Given the description of an element on the screen output the (x, y) to click on. 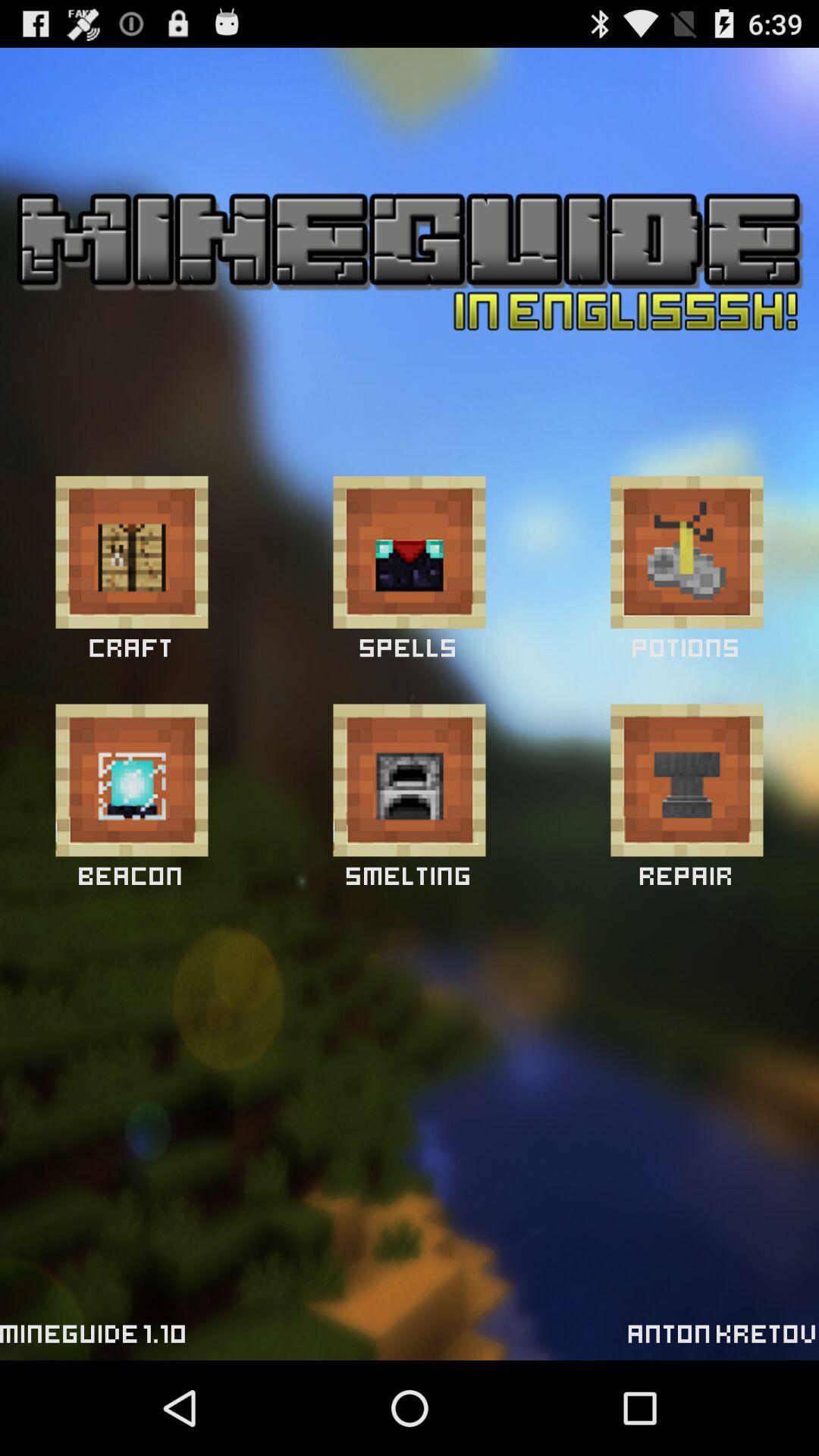
open beacon menu item (131, 780)
